Given the description of an element on the screen output the (x, y) to click on. 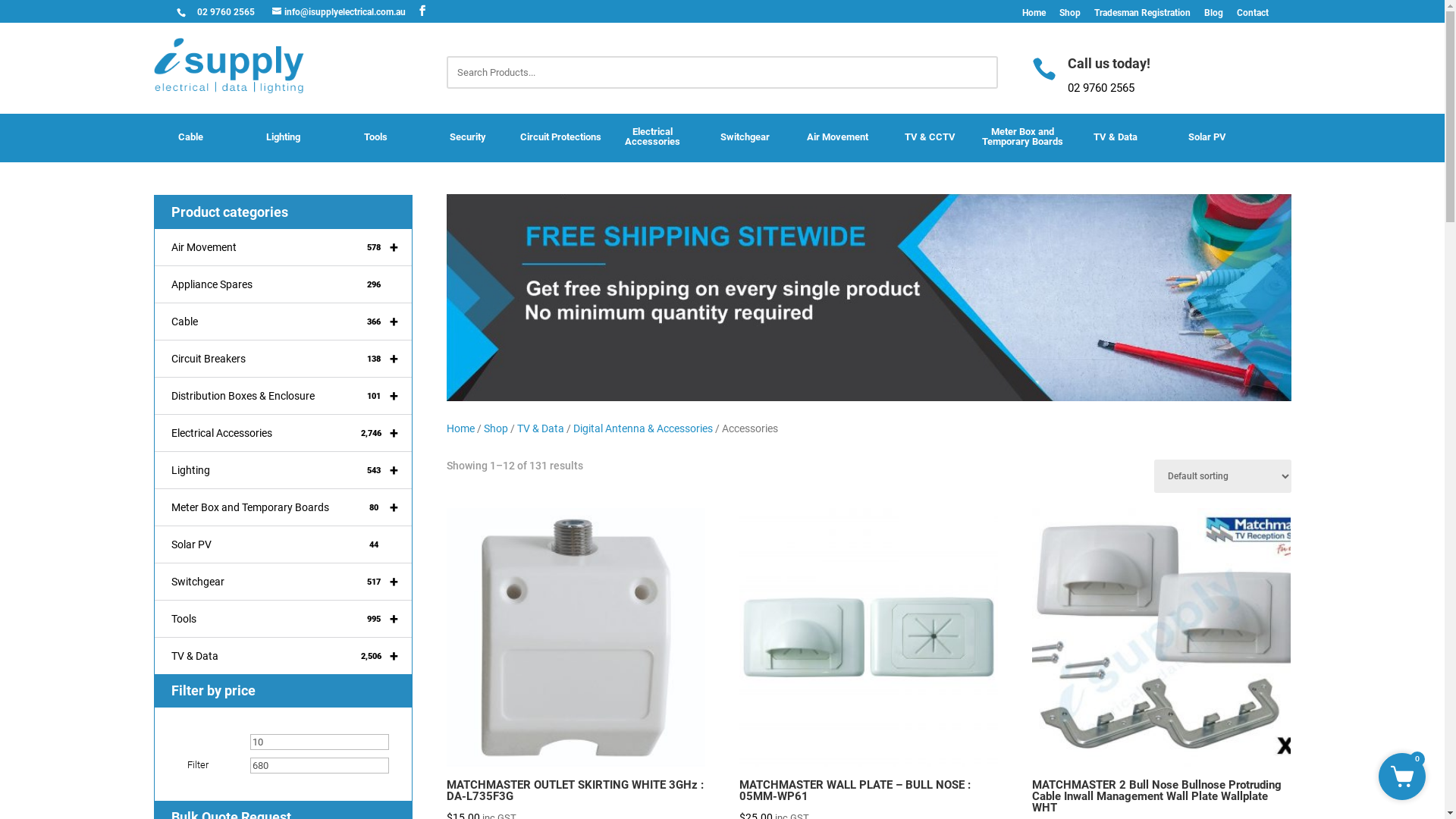
+
Lighting
543 Element type: text (282, 470)
Shop Element type: text (1068, 12)
Home Element type: text (460, 427)
+
Meter Box and Temporary Boards
80 Element type: text (282, 507)
+
Tools
995 Element type: text (282, 618)
+
Circuit Breakers
138 Element type: text (282, 358)
Filter Element type: text (197, 764)
+
Distribution Boxes & Enclosure
101 Element type: text (282, 395)
02 9760 2565 Element type: text (1100, 87)
Shop Element type: text (495, 427)
Appliance Spares
296 Element type: text (282, 284)
Tradesman Registration Element type: text (1141, 12)
+
TV & Data
2,506 Element type: text (282, 655)
isupply-logo-web Element type: hover (228, 65)
info@isupplyelectrical.com.au Element type: text (337, 11)
Solar PV
44 Element type: text (282, 544)
Digital Antenna & Accessories Element type: text (642, 427)
+
Switchgear
517 Element type: text (282, 581)
+
Cable
366 Element type: text (282, 321)
+
Electrical Accessories
2,746 Element type: text (282, 432)
Home Element type: text (1033, 12)
02 9760 2565 Element type: text (233, 11)
TV & Data Element type: text (540, 427)
Blog Element type: text (1213, 12)
+
Air Movement
578 Element type: text (282, 247)
Contact Element type: text (1251, 12)
